Given the description of an element on the screen output the (x, y) to click on. 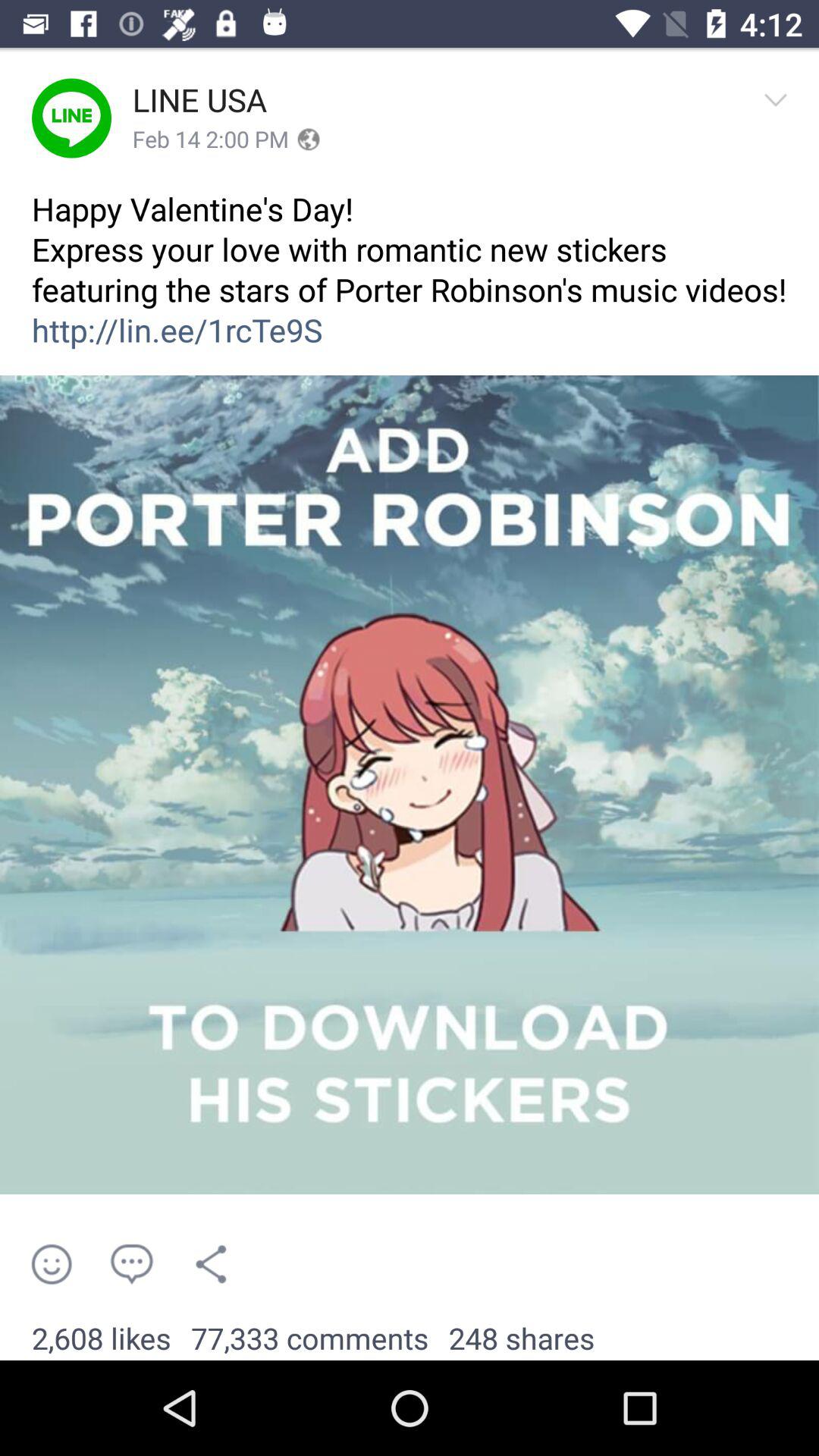
open the app above the 2,608 likes app (131, 1264)
